Given the description of an element on the screen output the (x, y) to click on. 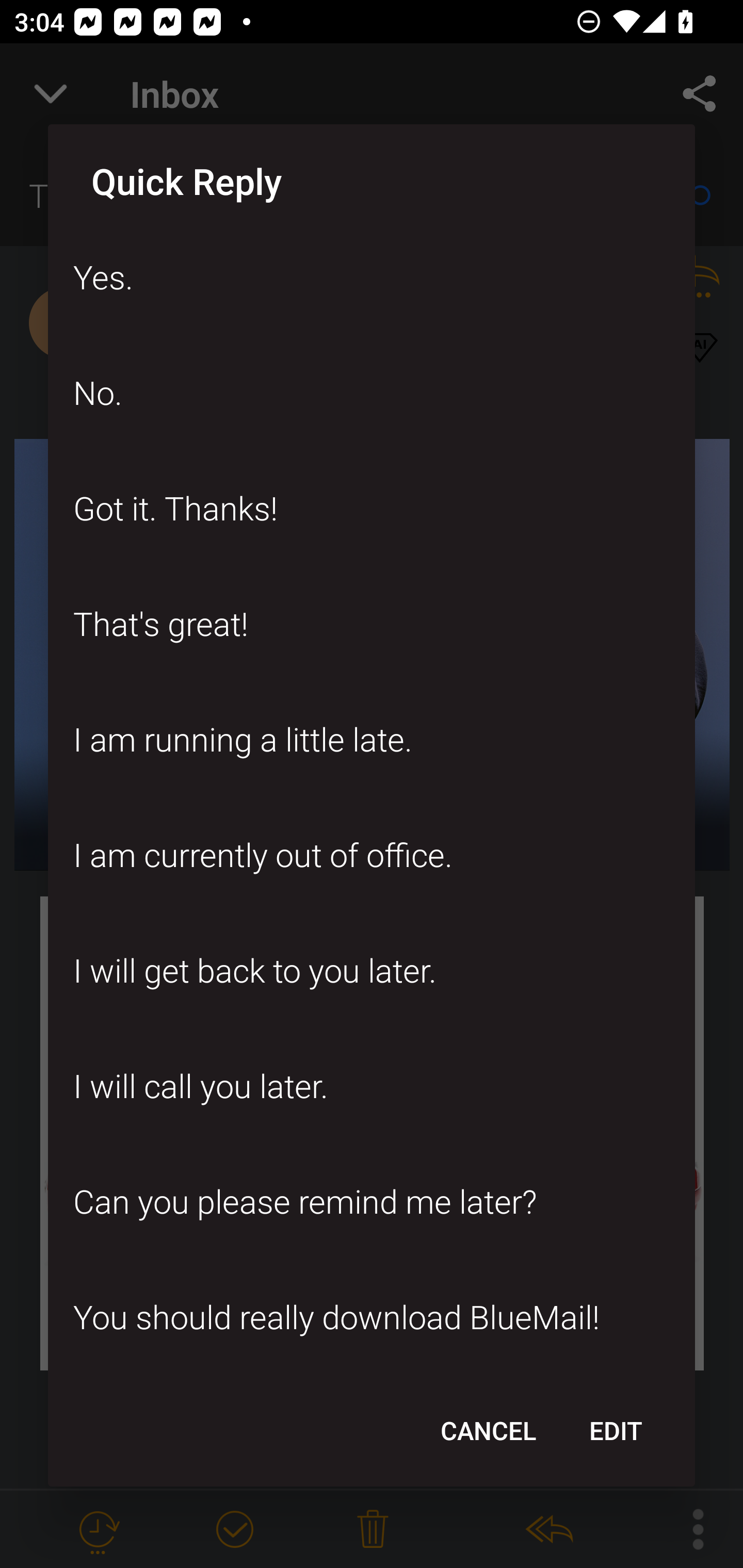
Yes.  (371, 276)
No.  (371, 391)
Got it. Thanks!  (371, 508)
That's great!  (371, 624)
I am running a little late.  (371, 739)
I am currently out of office.  (371, 854)
I will get back to you later.  (371, 970)
I will call you later.  (371, 1085)
Can you please remind me later?  (371, 1201)
You should really download BlueMail!  (371, 1317)
CANCEL (488, 1429)
EDIT (615, 1429)
